Given the description of an element on the screen output the (x, y) to click on. 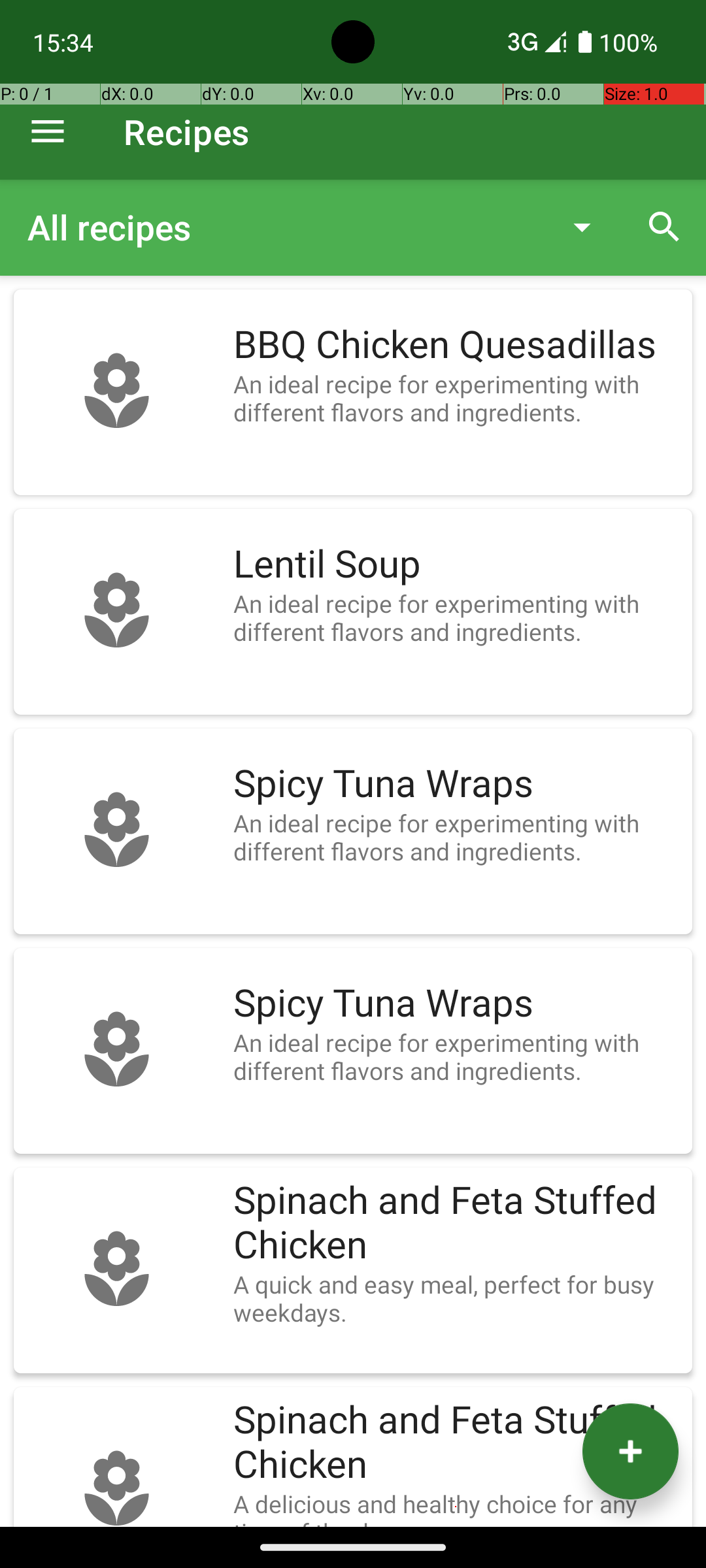
Lentil Soup Element type: android.widget.TextView (455, 564)
Spicy Tuna Wraps Element type: android.widget.TextView (455, 783)
Spinach and Feta Stuffed Chicken Element type: android.widget.TextView (455, 1222)
